Given the description of an element on the screen output the (x, y) to click on. 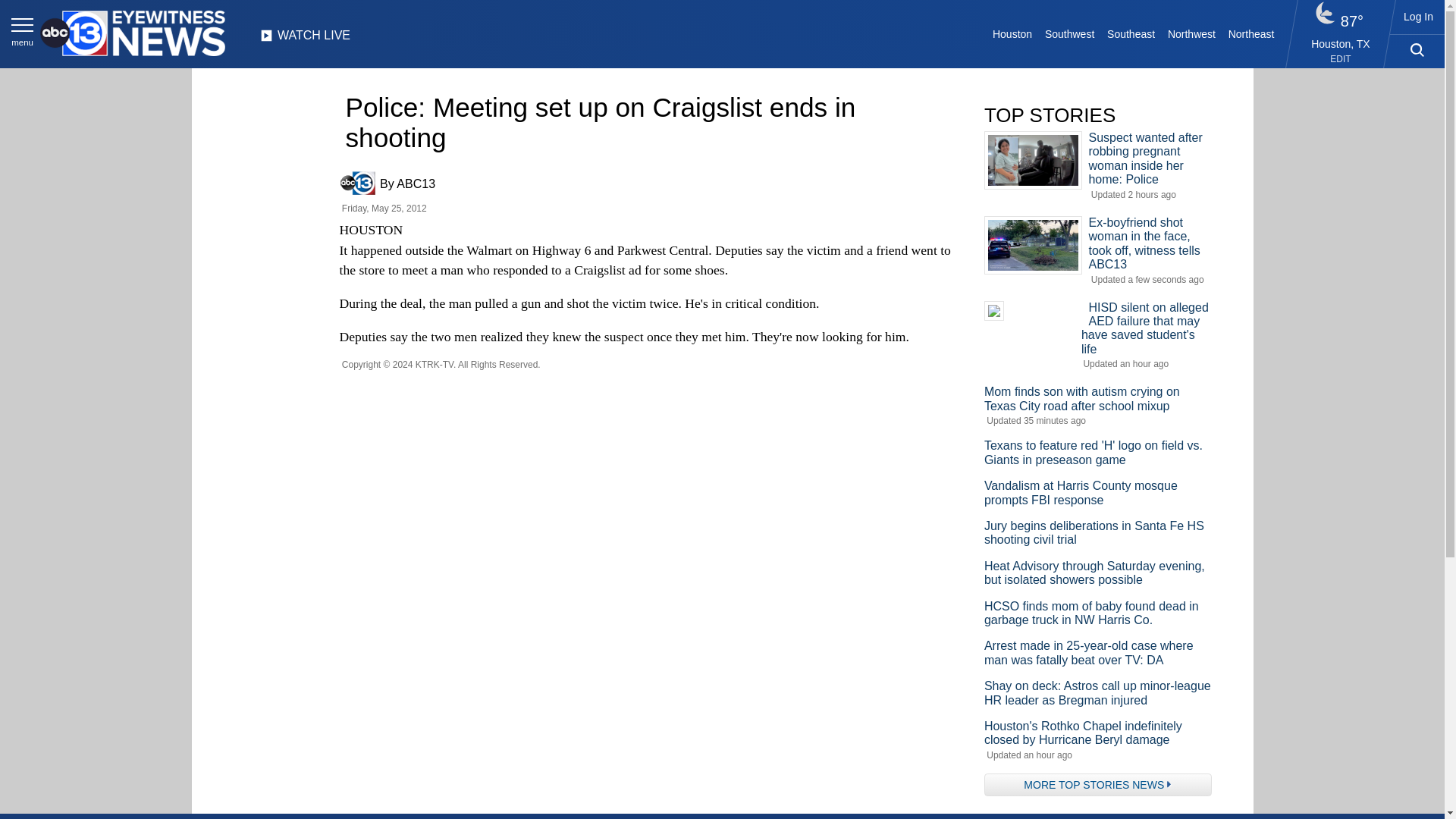
Houston (1013, 33)
Southeast (1130, 33)
EDIT (1340, 59)
WATCH LIVE (305, 39)
Northeast (1250, 33)
Northwest (1192, 33)
Southwest (1069, 33)
Houston, TX (1340, 43)
